Given the description of an element on the screen output the (x, y) to click on. 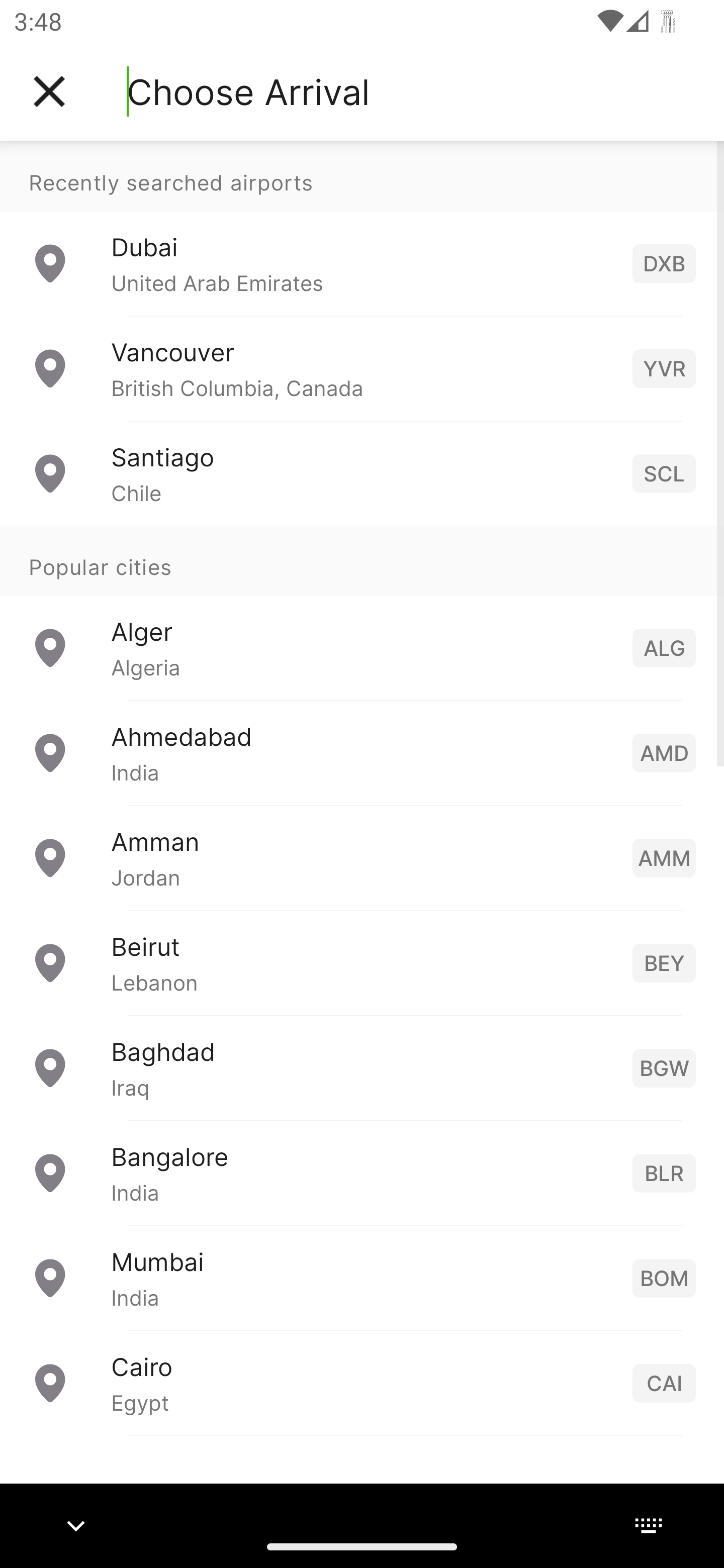
Choose Arrival (247, 91)
Recently searched airports (362, 176)
Vancouver British Columbia, Canada YVR (362, 367)
Santiago Chile SCL (362, 472)
Popular cities Alger Algeria ALG (362, 612)
Popular cities (362, 560)
Ahmedabad India AMD (362, 751)
Amman Jordan AMM (362, 856)
Beirut Lebanon BEY (362, 961)
Baghdad Iraq BGW (362, 1066)
Bangalore India BLR (362, 1171)
Mumbai India BOM (362, 1276)
Cairo Egypt CAI (362, 1381)
